Given the description of an element on the screen output the (x, y) to click on. 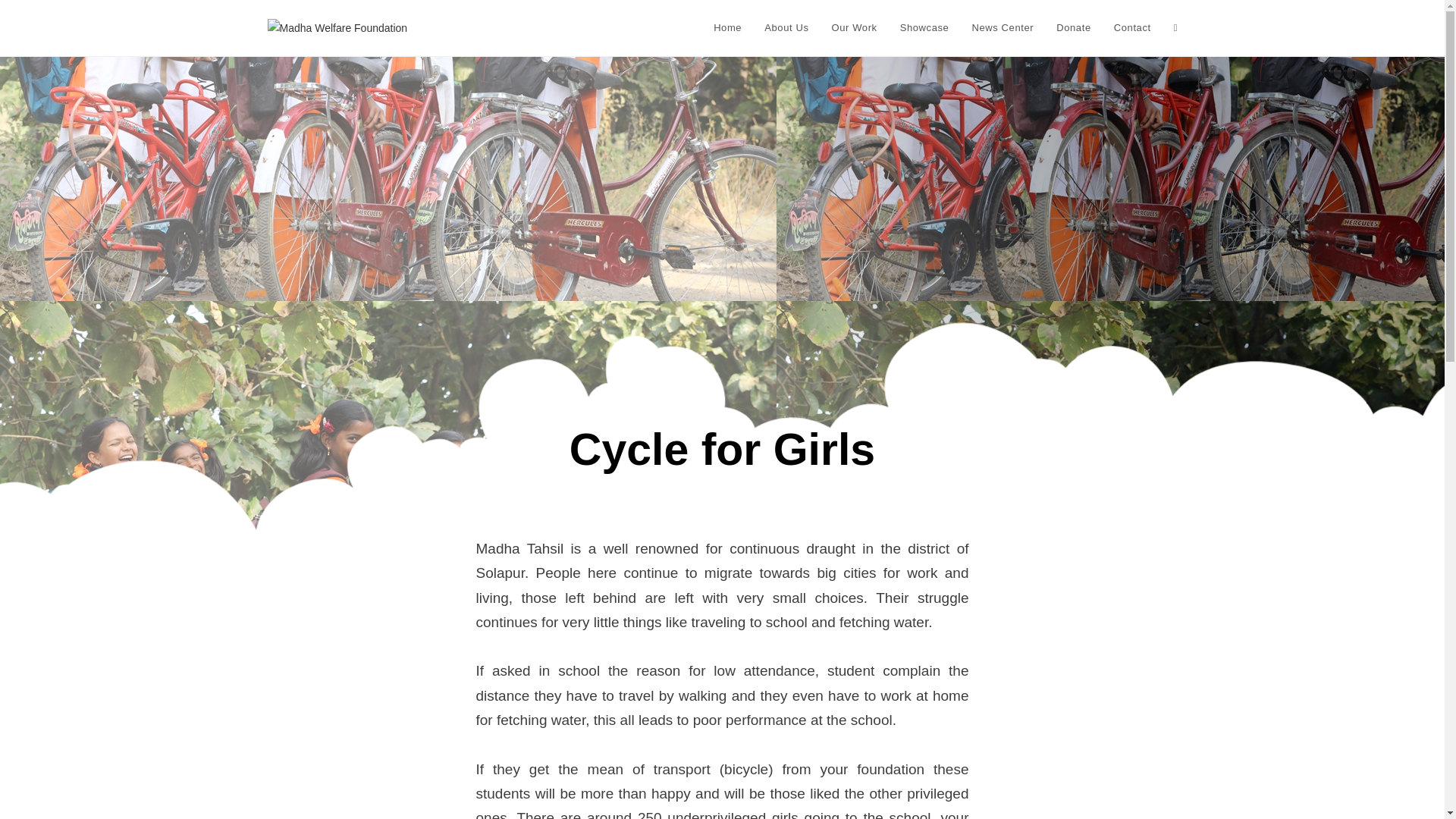
About Us (785, 28)
Showcase (924, 28)
News Center (1002, 28)
Home (726, 28)
Donate (1073, 28)
Our Work (853, 28)
Contact (1131, 28)
